Given the description of an element on the screen output the (x, y) to click on. 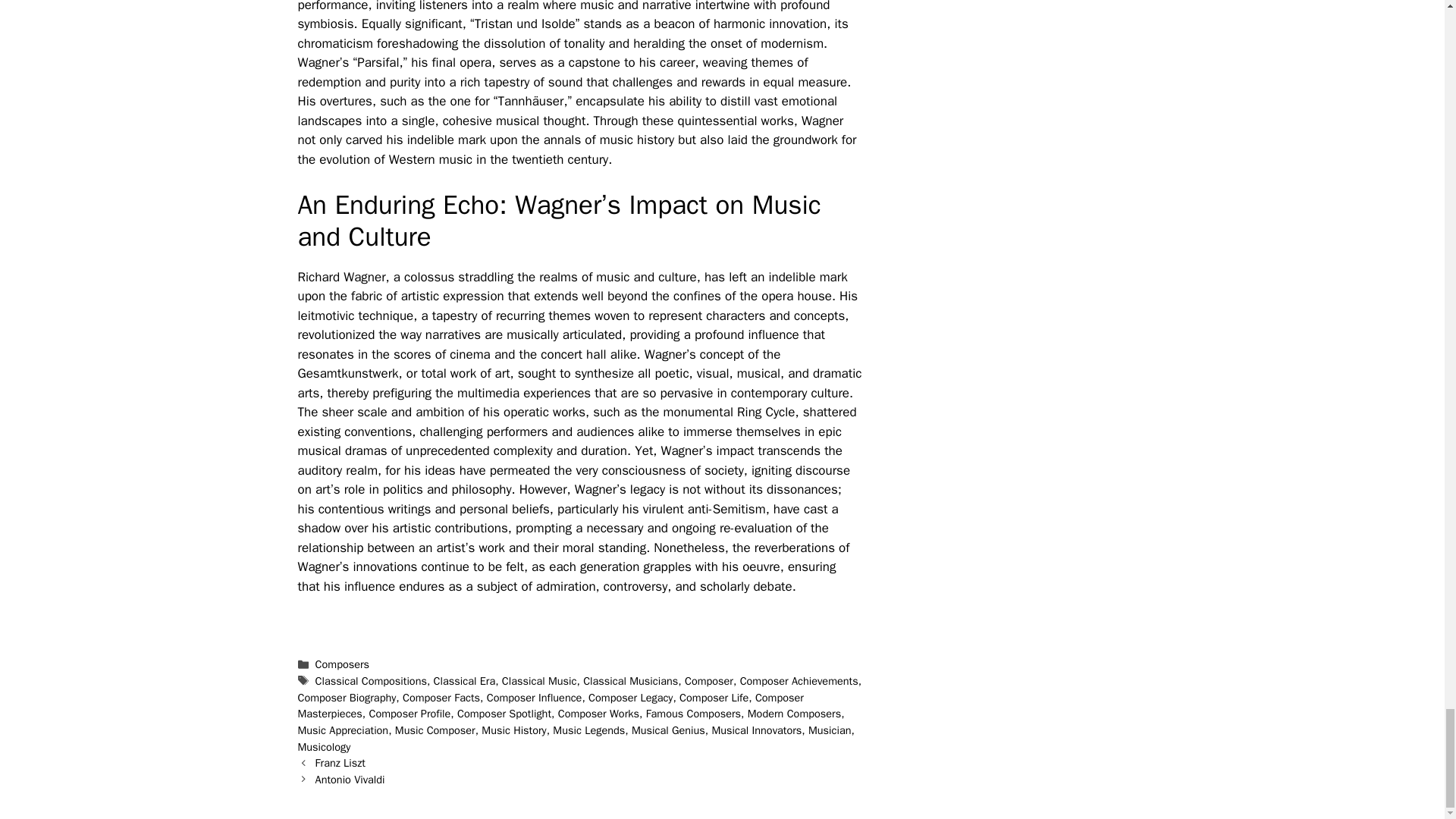
Composer (708, 680)
Composer Biography (346, 697)
Classical Era (464, 680)
Classical Compositions (370, 680)
Composer Achievements (799, 680)
Classical Music (539, 680)
Composer Life (713, 697)
Composers (342, 663)
Classical Musicians (630, 680)
Composer Influence (534, 697)
Composer Facts (441, 697)
Composer Legacy (630, 697)
